Given the description of an element on the screen output the (x, y) to click on. 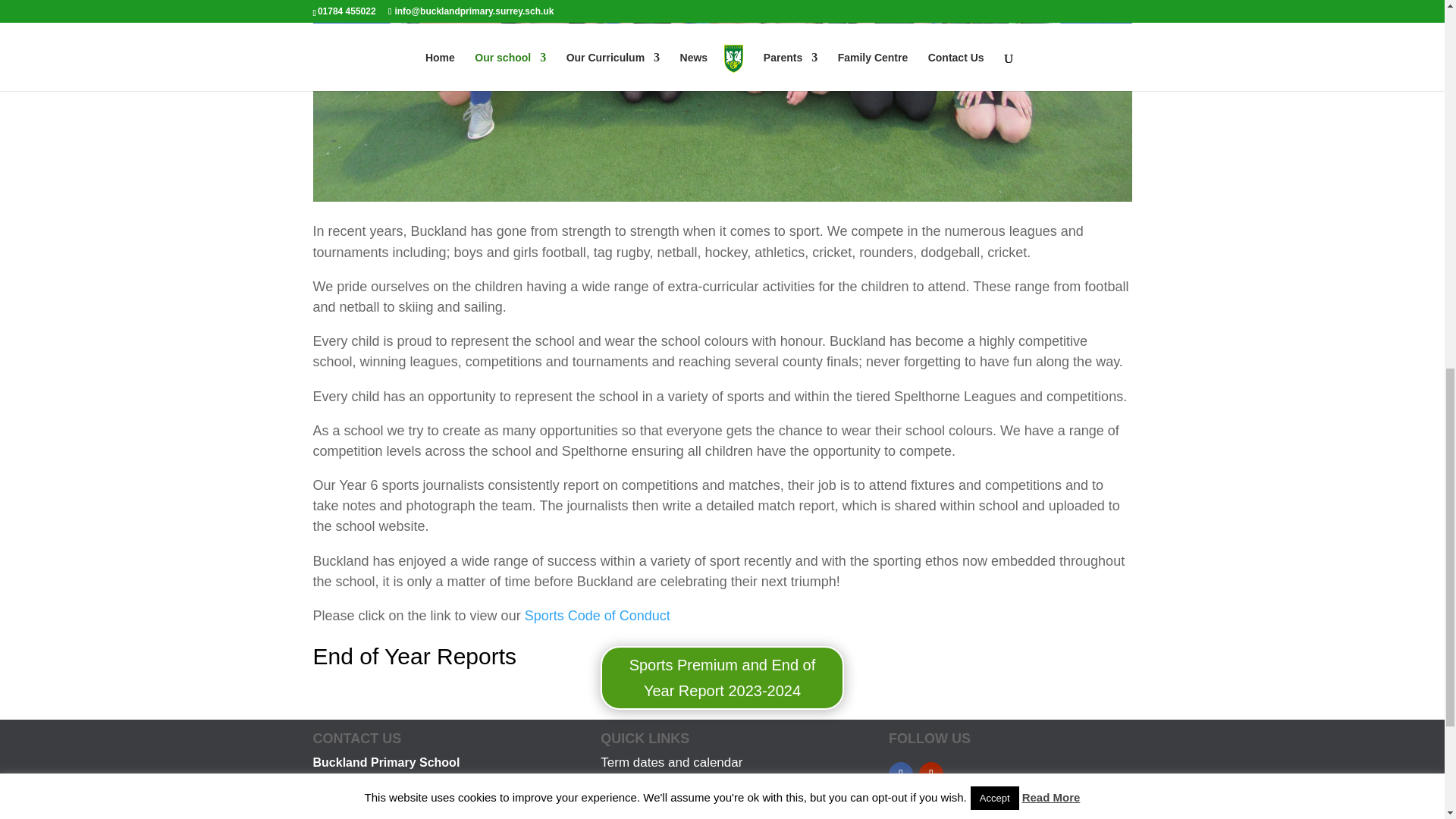
Follow on Facebook (900, 774)
Follow on Youtube (930, 774)
